Given the description of an element on the screen output the (x, y) to click on. 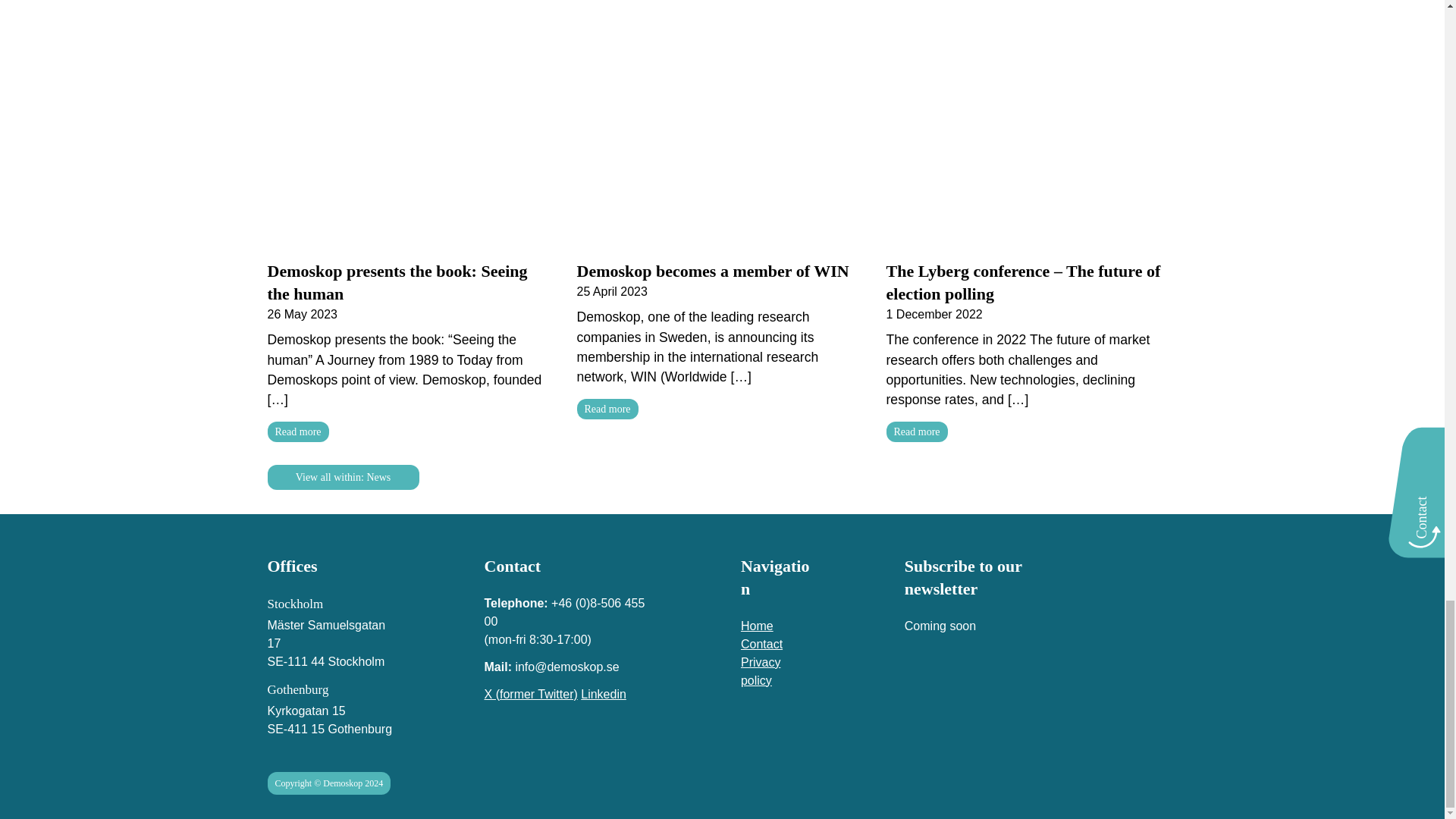
Contact (777, 644)
Privacy policy (777, 671)
Home (777, 626)
Permanent Link to Demoskop becomes a member of WIN (721, 227)
View all within: News (342, 477)
Linkedin (603, 694)
